Given the description of an element on the screen output the (x, y) to click on. 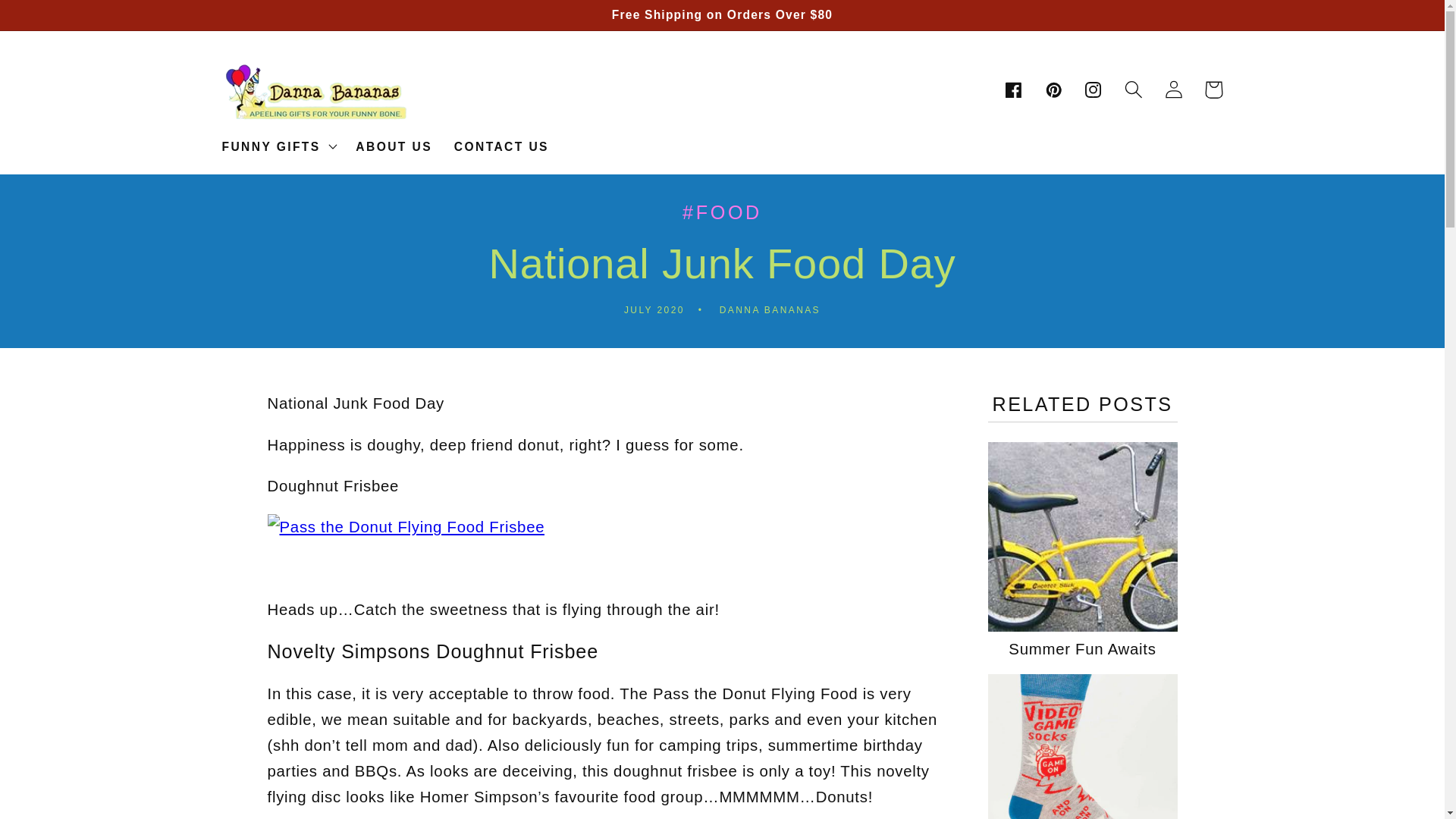
Log in (1173, 89)
SKIP TO CONTENT (53, 20)
CONTACT US (500, 147)
Pinterest (1053, 89)
Cart (1213, 89)
Instagram (1093, 89)
ABOUT US (393, 147)
Facebook (1012, 89)
